Given the description of an element on the screen output the (x, y) to click on. 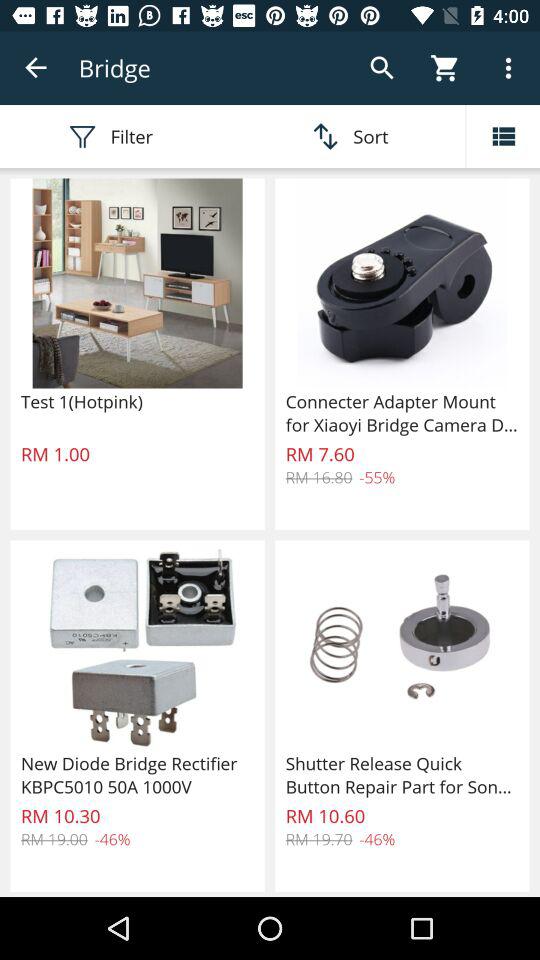
go back (36, 68)
